Given the description of an element on the screen output the (x, y) to click on. 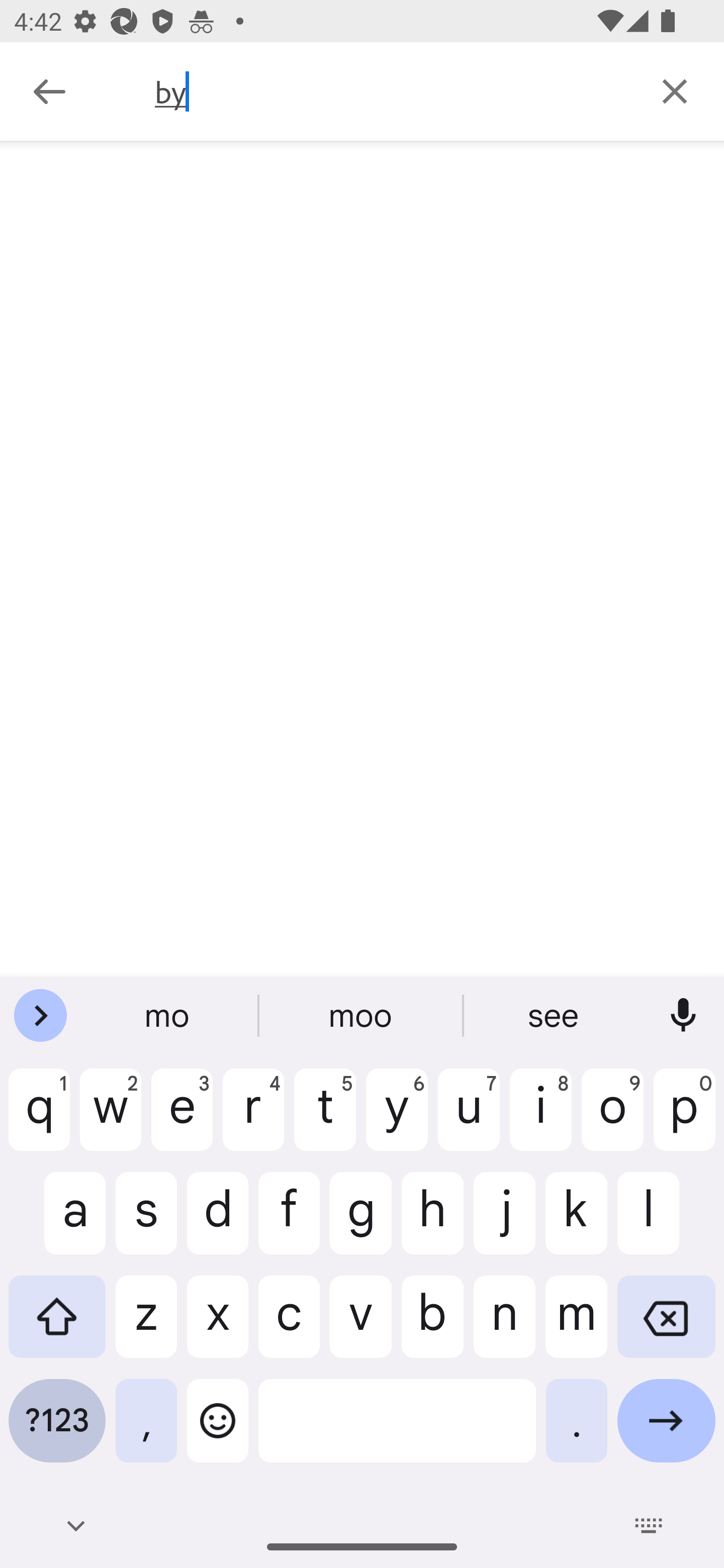
Navigate up (49, 91)
Clear query (674, 90)
by (389, 91)
